Given the description of an element on the screen output the (x, y) to click on. 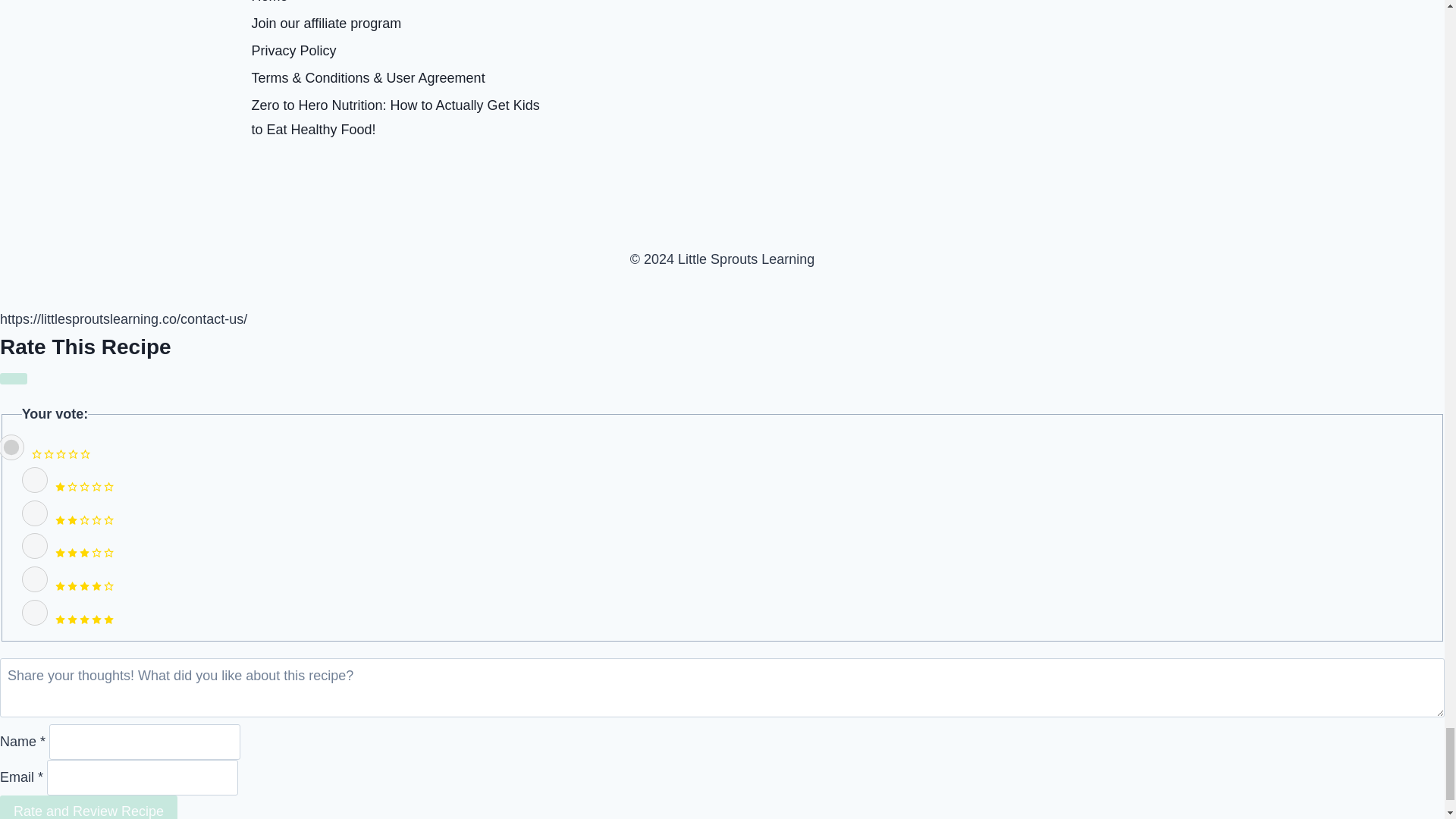
4 (34, 579)
3 (34, 545)
1 (34, 479)
0 (12, 447)
2 (34, 513)
5 (34, 612)
